Given the description of an element on the screen output the (x, y) to click on. 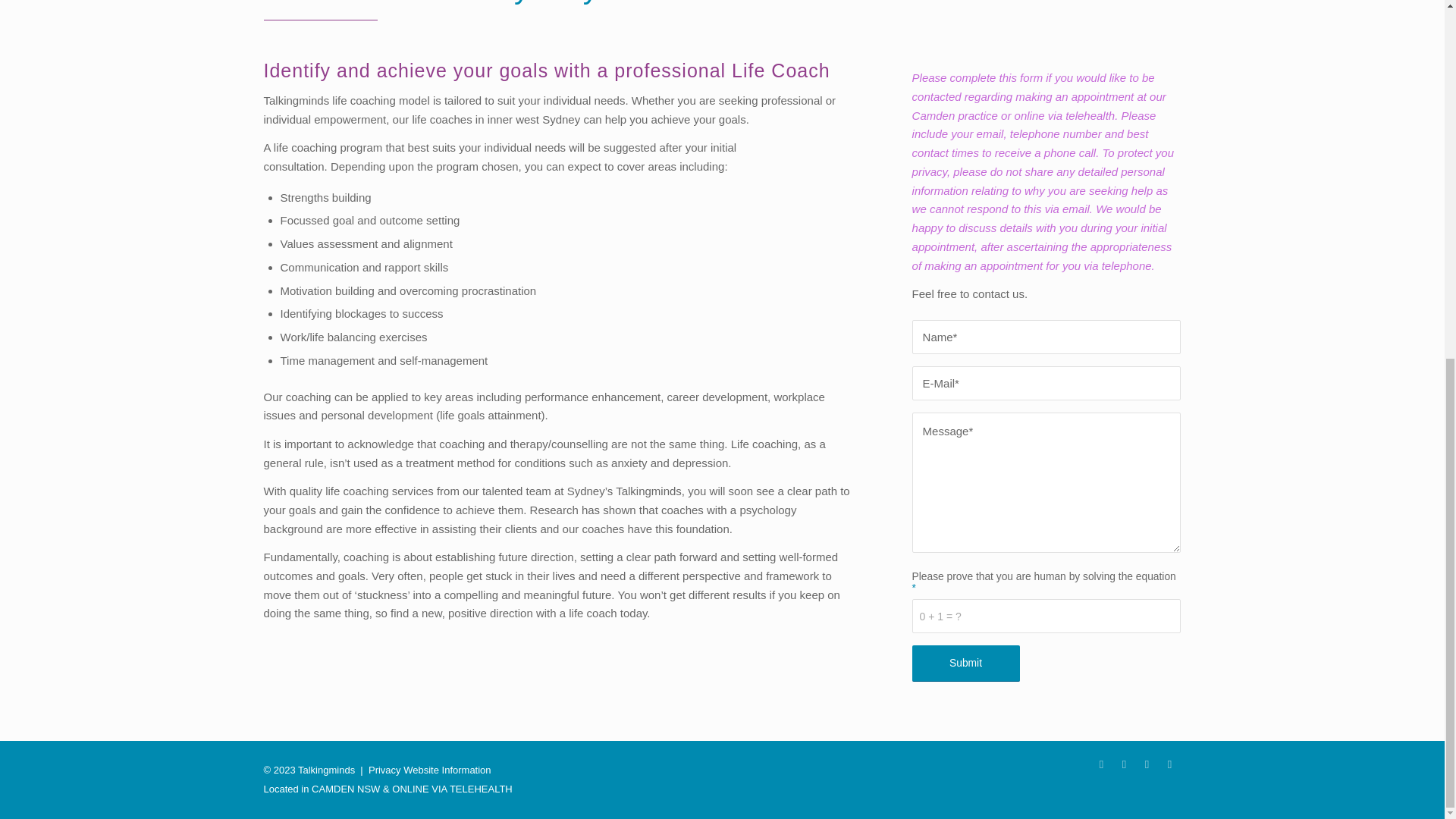
Privacy Website Information (430, 769)
Instagram (1146, 763)
Mail (1169, 763)
Submit (966, 663)
Facebook (1101, 763)
Privacy Website Information (430, 769)
Submit (966, 663)
Twitter (1124, 763)
